Given the description of an element on the screen output the (x, y) to click on. 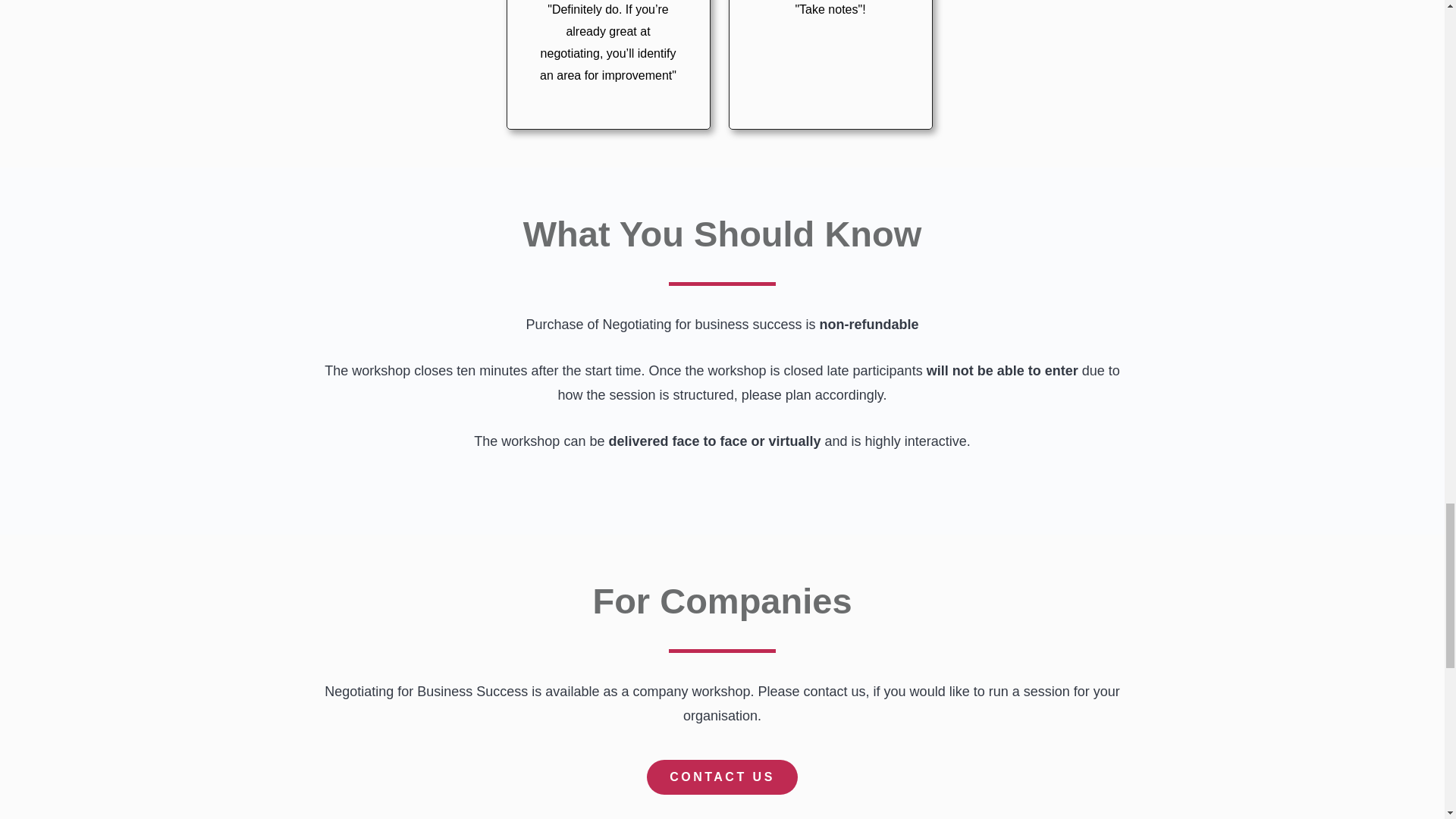
CONTACT US (721, 777)
